Given the description of an element on the screen output the (x, y) to click on. 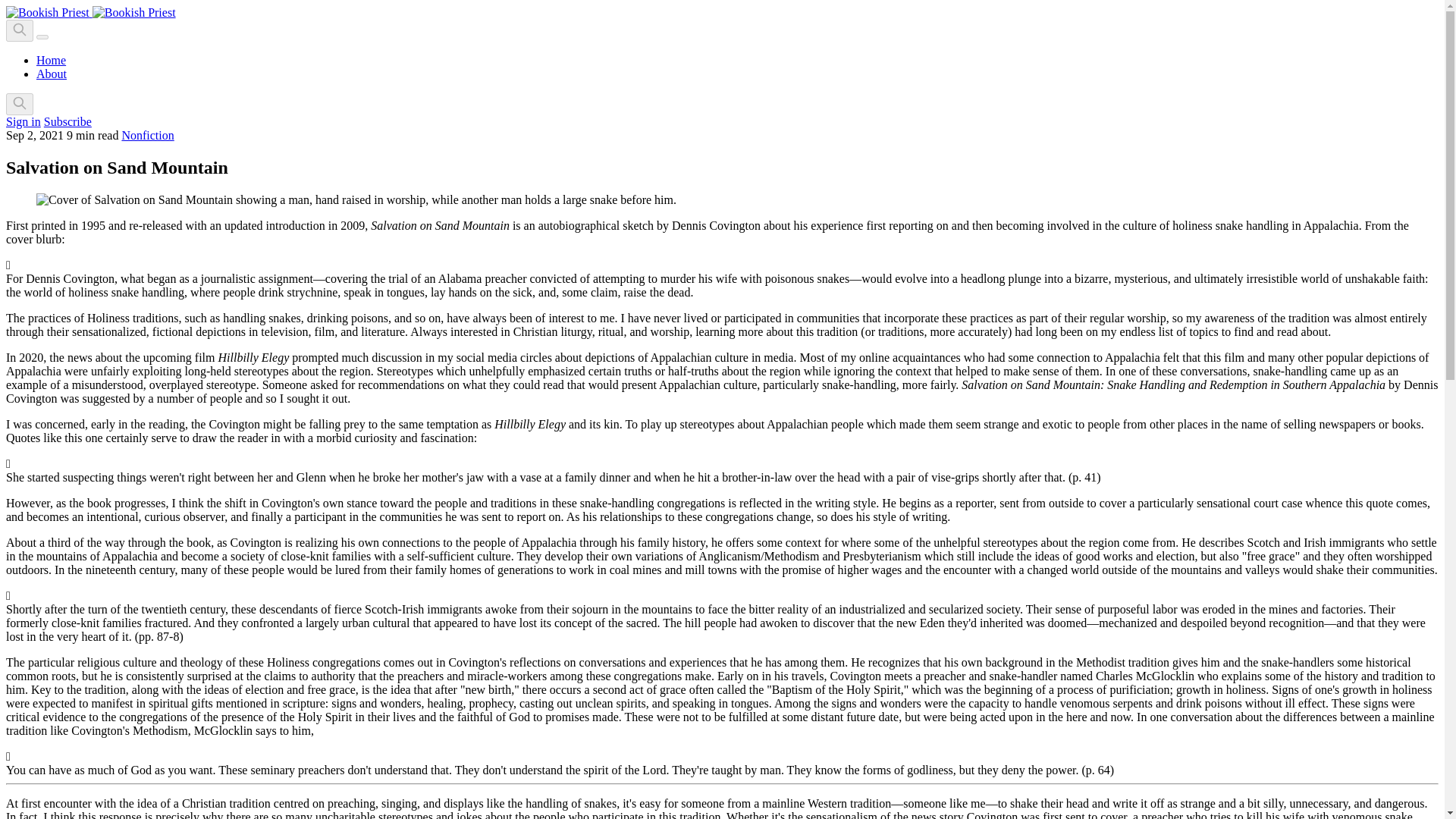
Subscribe (67, 121)
About (51, 73)
Home (50, 60)
Nonfiction (146, 134)
Nonfiction (146, 134)
Sign in (22, 121)
